Given the description of an element on the screen output the (x, y) to click on. 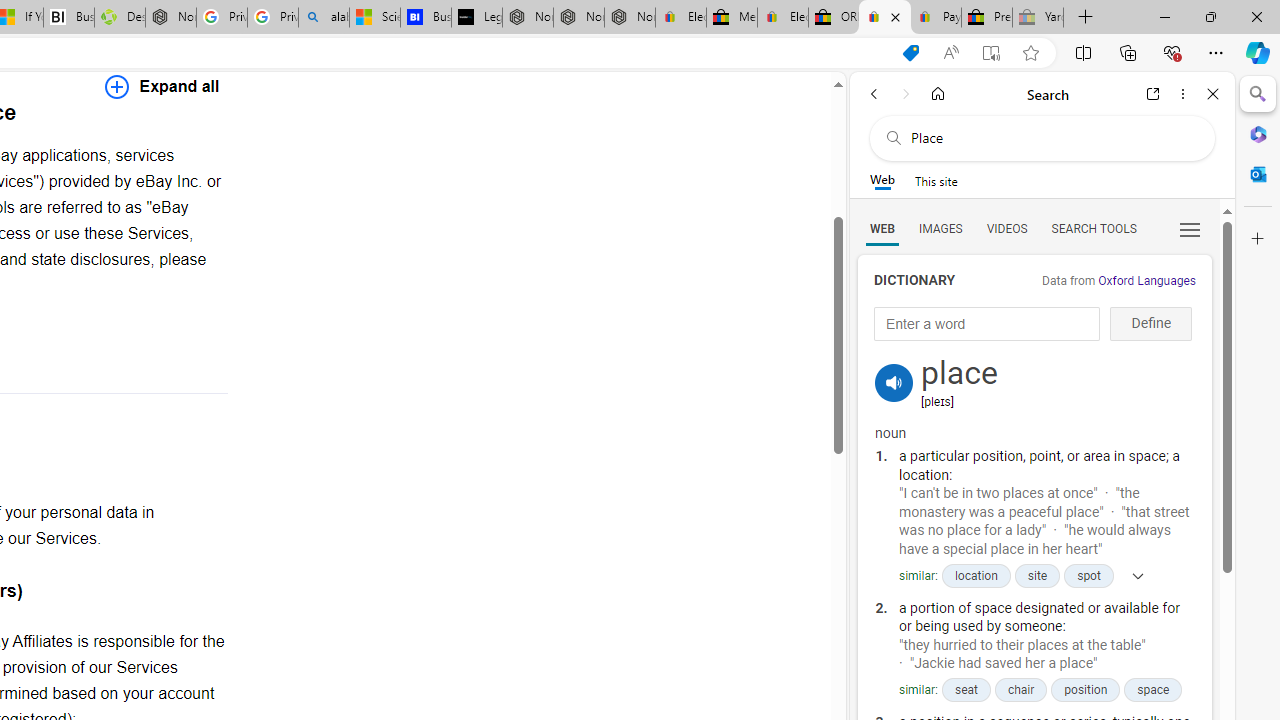
Search Filter, IMAGES (939, 228)
Forward (906, 93)
Link for logging (893, 359)
Preferences (1189, 228)
chair (1021, 690)
Descarga Driver Updater (119, 17)
Payments Terms of Use | eBay.com (936, 17)
Yard, Garden & Outdoor Living - Sleeping (1037, 17)
